Given the description of an element on the screen output the (x, y) to click on. 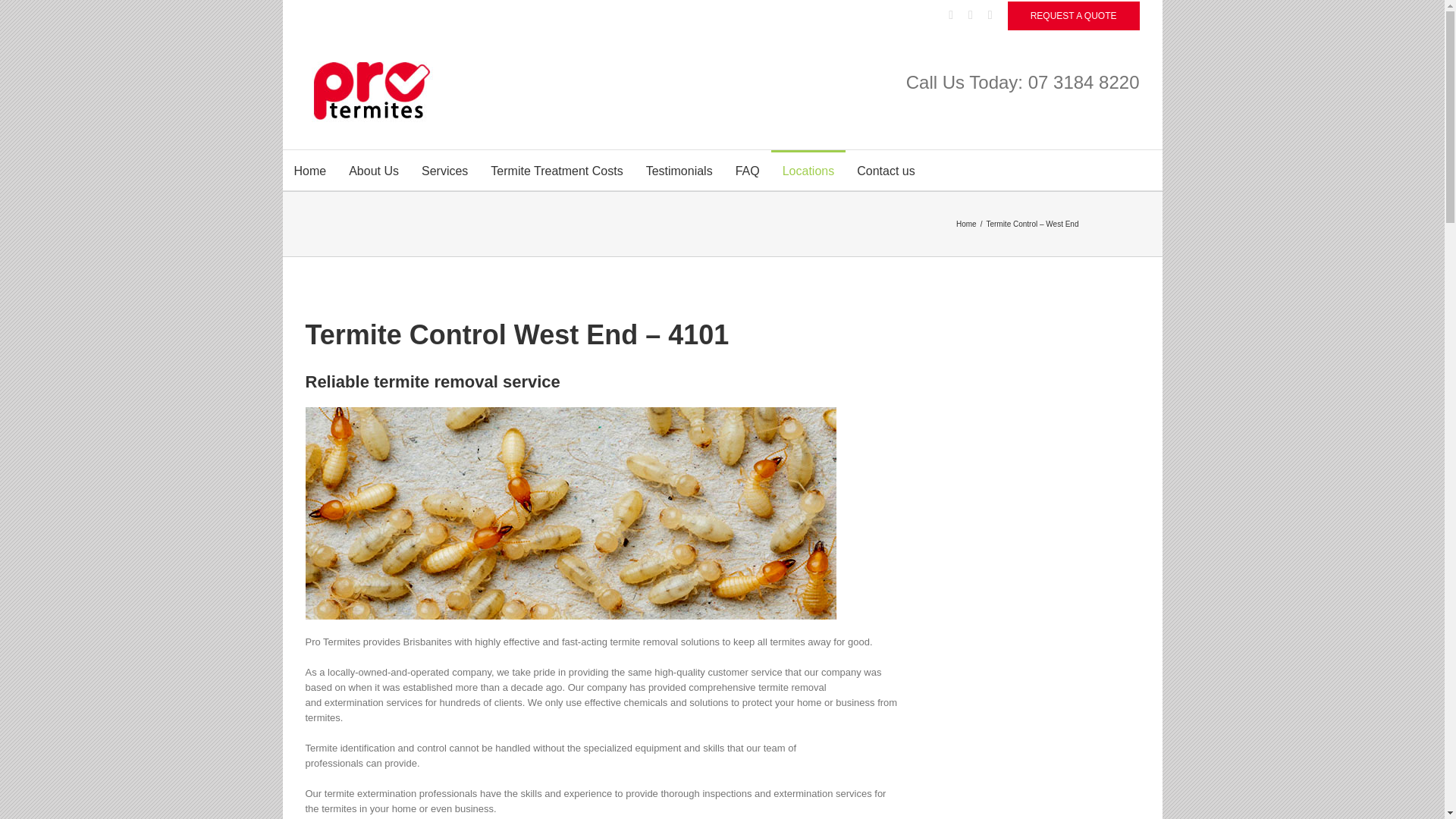
REQUEST A QUOTE (1073, 15)
Testimonials (678, 169)
Locations (808, 169)
Termite Treatment Costs (556, 169)
Contact us (885, 169)
Home (309, 169)
Termite Control Services (444, 169)
About Pro Termites (373, 169)
Termite Treatment Costs (556, 169)
About Us (373, 169)
FAQ (747, 169)
Services (444, 169)
Frequently Asked Questions (747, 169)
Testimonials (678, 169)
